Given the description of an element on the screen output the (x, y) to click on. 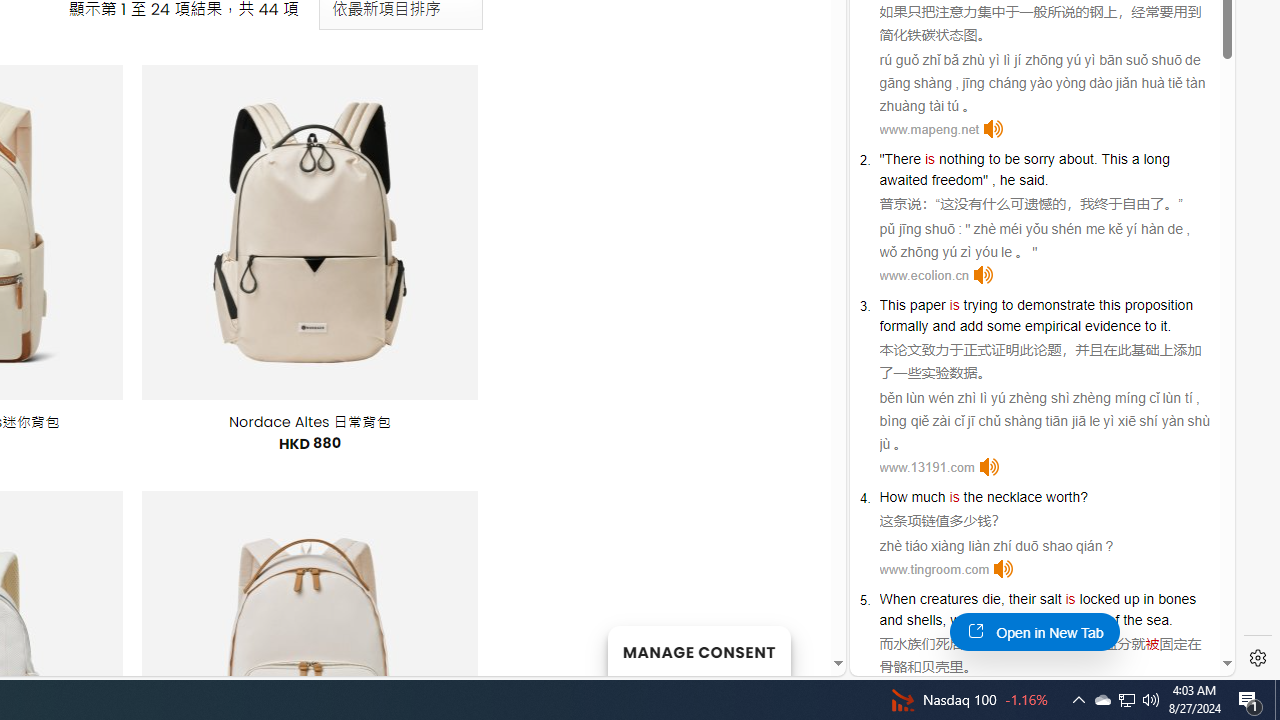
in (1148, 598)
die (990, 598)
. (1170, 619)
" (985, 179)
bones (1177, 598)
drop (1003, 619)
much (928, 496)
www.tingroom.com (934, 569)
this (1109, 304)
